Given the description of an element on the screen output the (x, y) to click on. 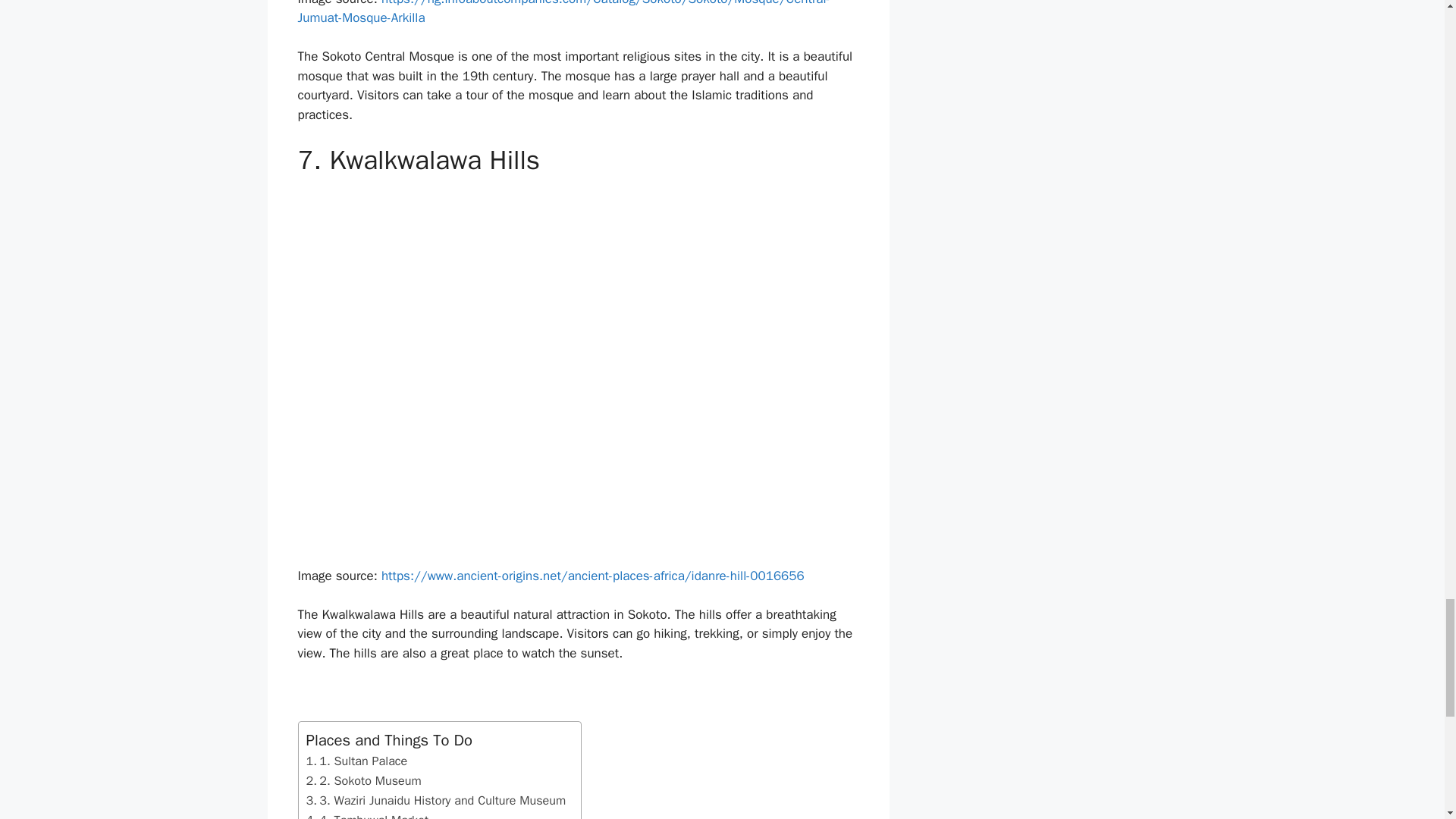
1. Sultan Palace (356, 761)
2. Sokoto Museum (363, 781)
4. Tambuwal Market (367, 814)
2. Sokoto Museum (363, 781)
3. Waziri Junaidu History and Culture Museum (435, 800)
4. Tambuwal Market (367, 814)
3. Waziri Junaidu History and Culture Museum (435, 800)
1. Sultan Palace (356, 761)
